Given the description of an element on the screen output the (x, y) to click on. 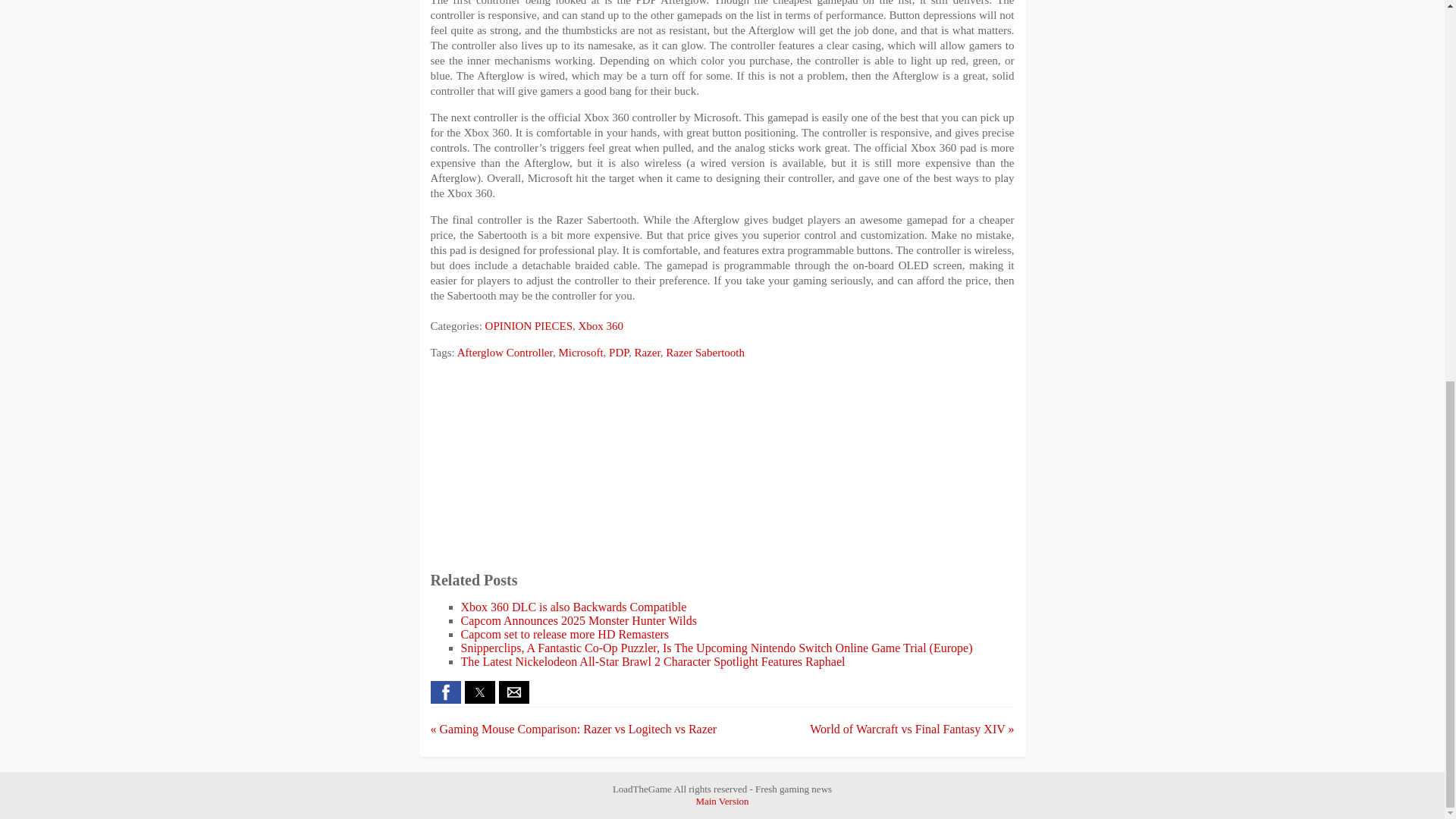
3rd party ad content (721, 466)
Microsoft (579, 352)
Razer Sabertooth (704, 352)
Main Version (721, 800)
Xbox 360 (601, 326)
Capcom set to release more HD Remasters (565, 634)
Xbox 360 DLC is also Backwards Compatible (574, 606)
OPINION PIECES (528, 326)
PDP (618, 352)
Razer (646, 352)
Afterglow Controller (505, 352)
Capcom Announces 2025 Monster Hunter Wilds (579, 620)
